Given the description of an element on the screen output the (x, y) to click on. 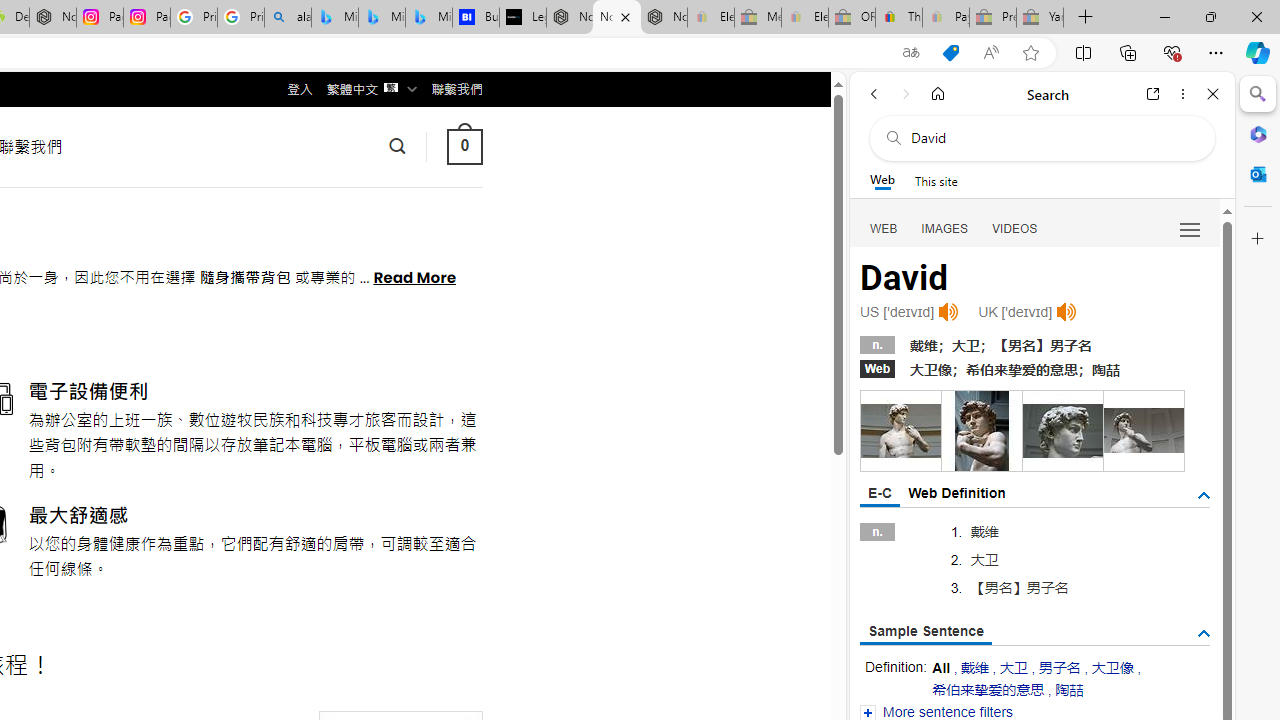
Class: b_serphb (1190, 229)
Microsoft Bing Travel - Shangri-La Hotel Bangkok (428, 17)
This site scope (936, 180)
